Given the description of an element on the screen output the (x, y) to click on. 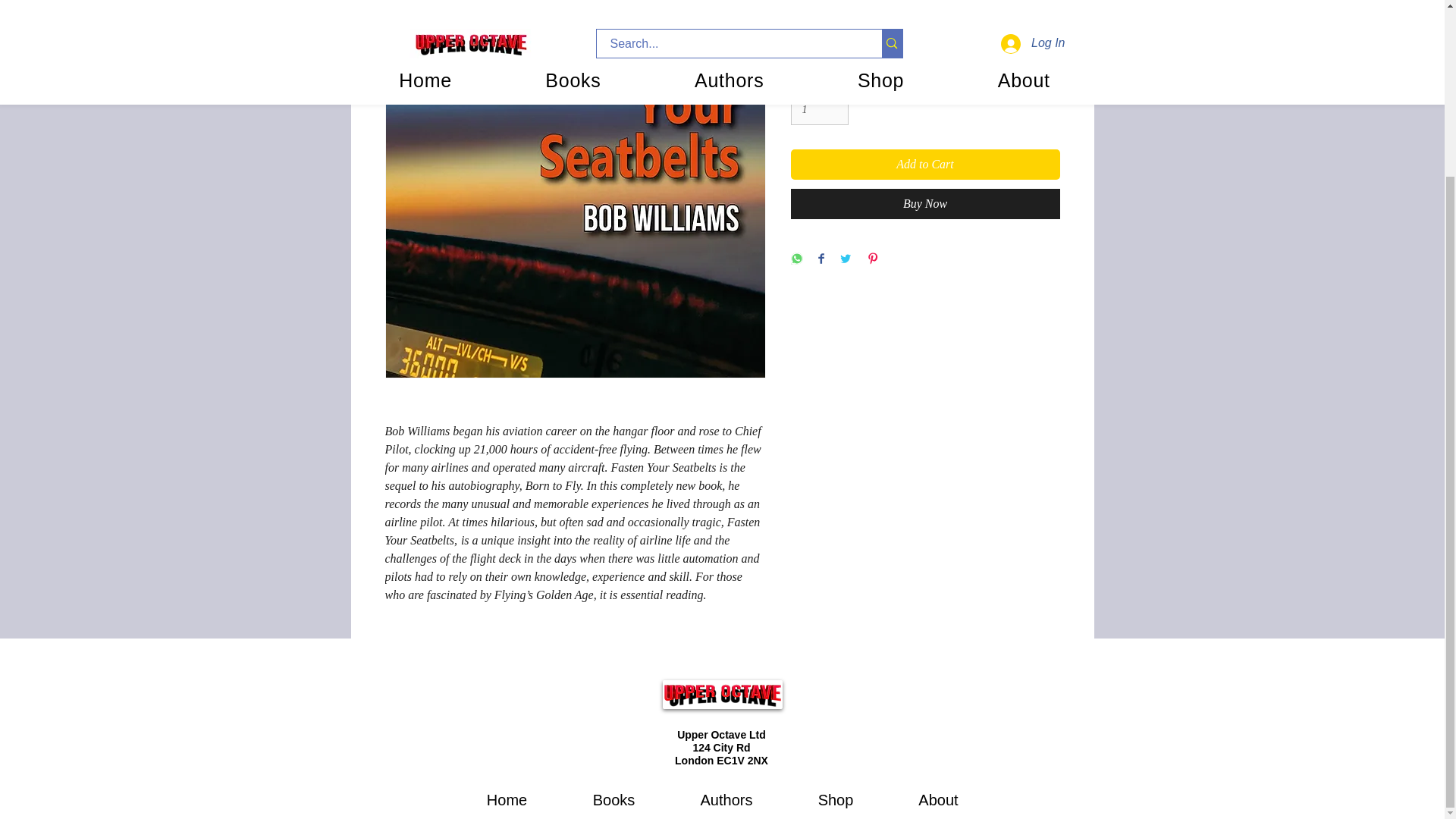
1 (818, 110)
